Given the description of an element on the screen output the (x, y) to click on. 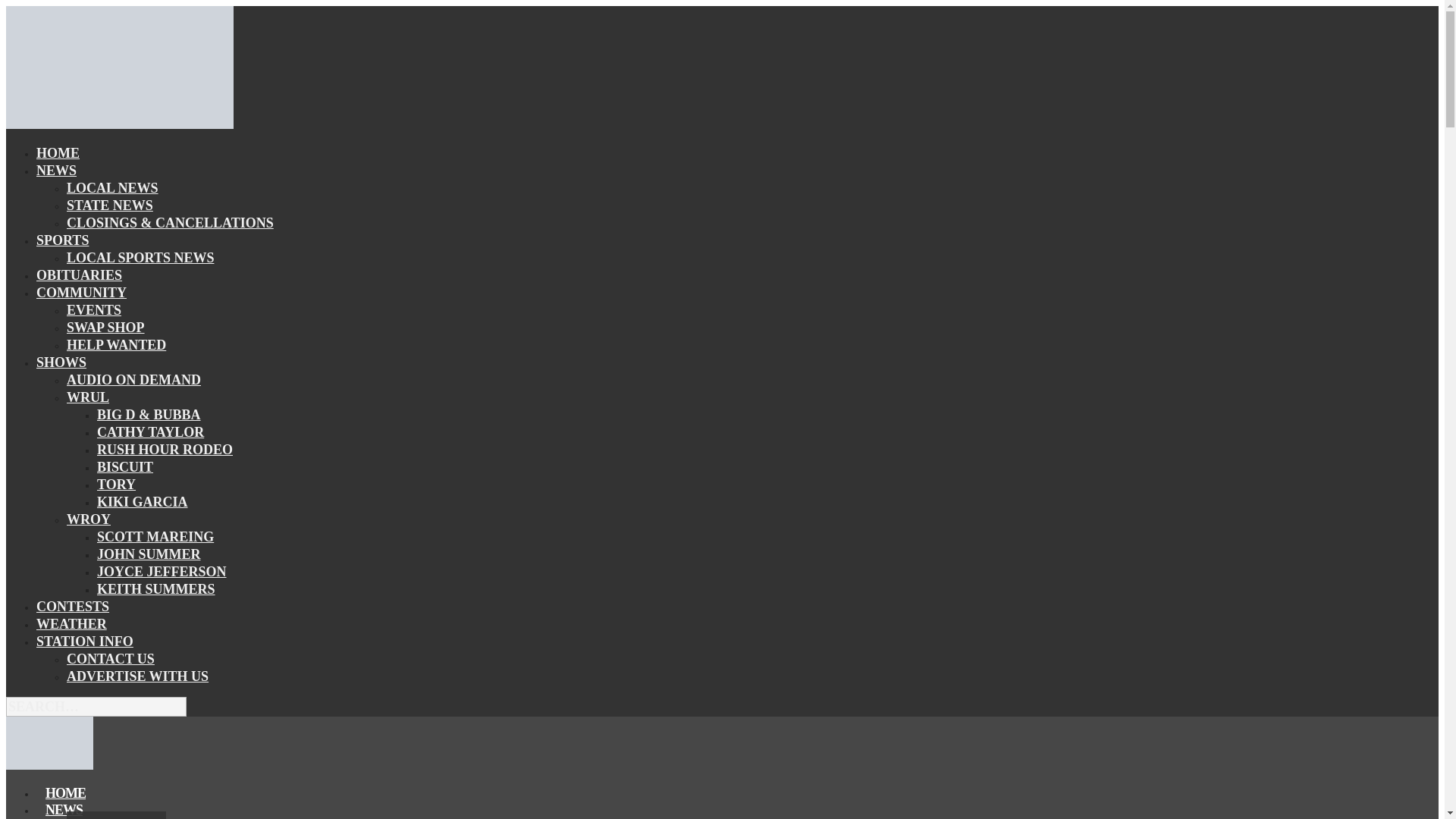
EVENTS (93, 310)
OBITUARIES (79, 274)
NEWS (63, 807)
NEWS (56, 169)
WROY (88, 518)
WRUL-FM (49, 765)
SWAP SHOP (105, 327)
JOHN SUMMER (148, 554)
CATHY TAYLOR (150, 432)
ADVERTISE WITH US (137, 676)
